Given the description of an element on the screen output the (x, y) to click on. 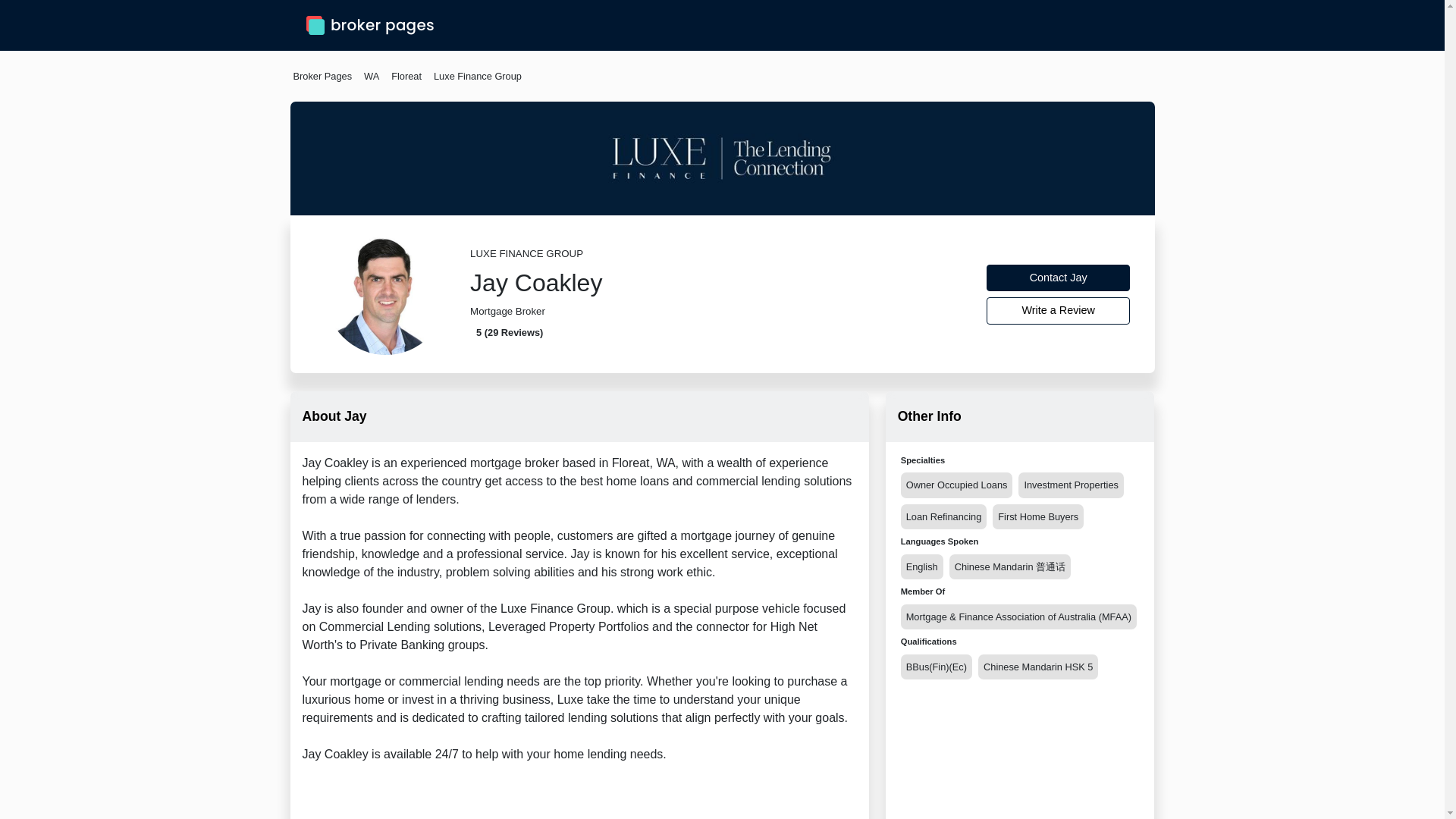
Contact Jay (1059, 277)
Broker Pages (322, 75)
Floreat (406, 75)
Write a Review (1059, 310)
